Given the description of an element on the screen output the (x, y) to click on. 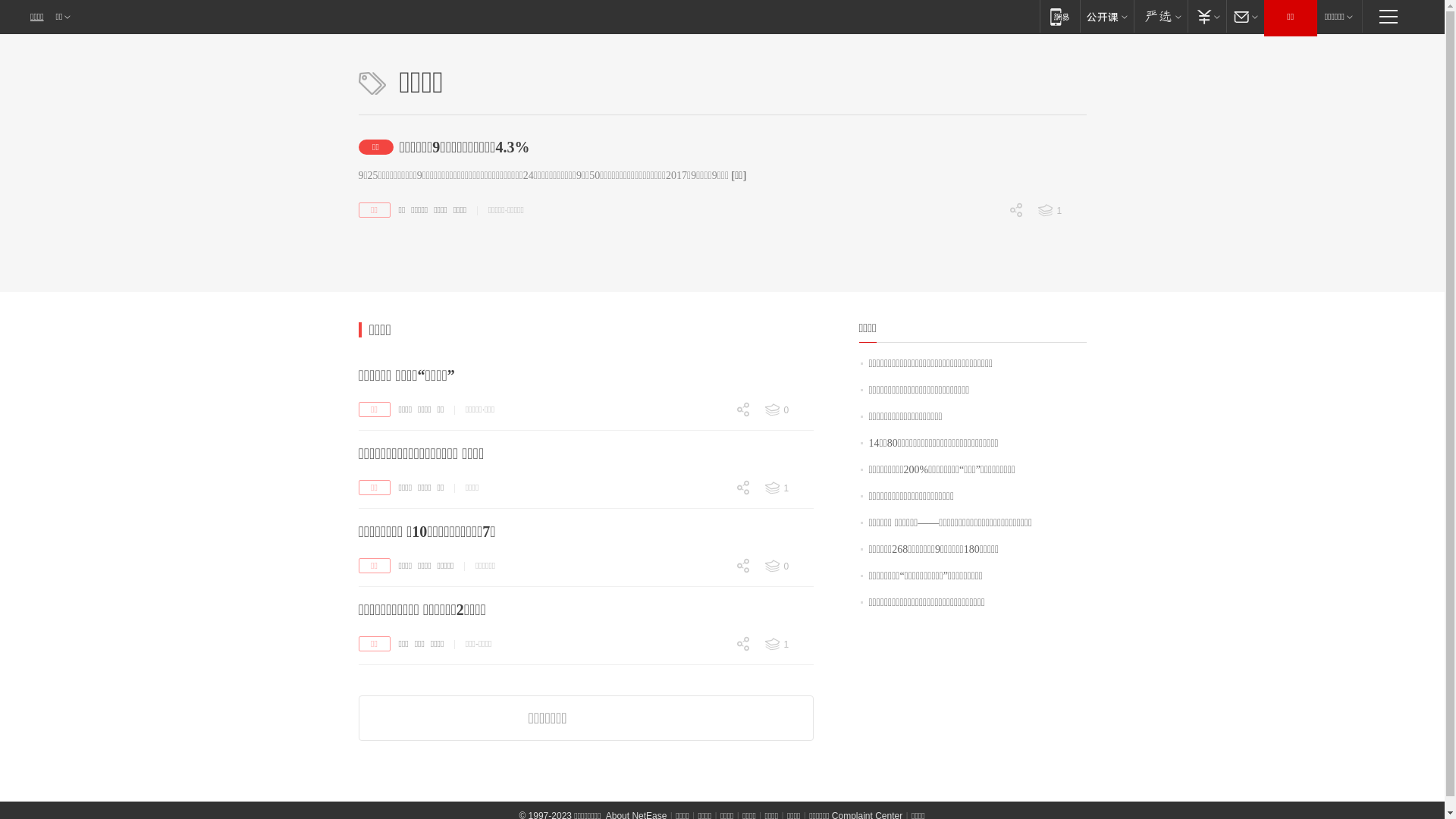
0 Element type: text (712, 749)
1 Element type: text (787, 644)
1 Element type: text (1060, 210)
0 Element type: text (985, 316)
0 Element type: text (712, 567)
0 Element type: text (712, 645)
0 Element type: text (712, 515)
0 Element type: text (787, 566)
0 Element type: text (985, 236)
0 Element type: text (712, 593)
0 Element type: text (712, 723)
1 Element type: text (787, 488)
0 Element type: text (985, 289)
0 Element type: text (712, 514)
0 Element type: text (712, 436)
0 Element type: text (712, 671)
0 Element type: text (787, 409)
0 Element type: text (712, 592)
0 Element type: text (712, 489)
0 Element type: text (712, 670)
